Given the description of an element on the screen output the (x, y) to click on. 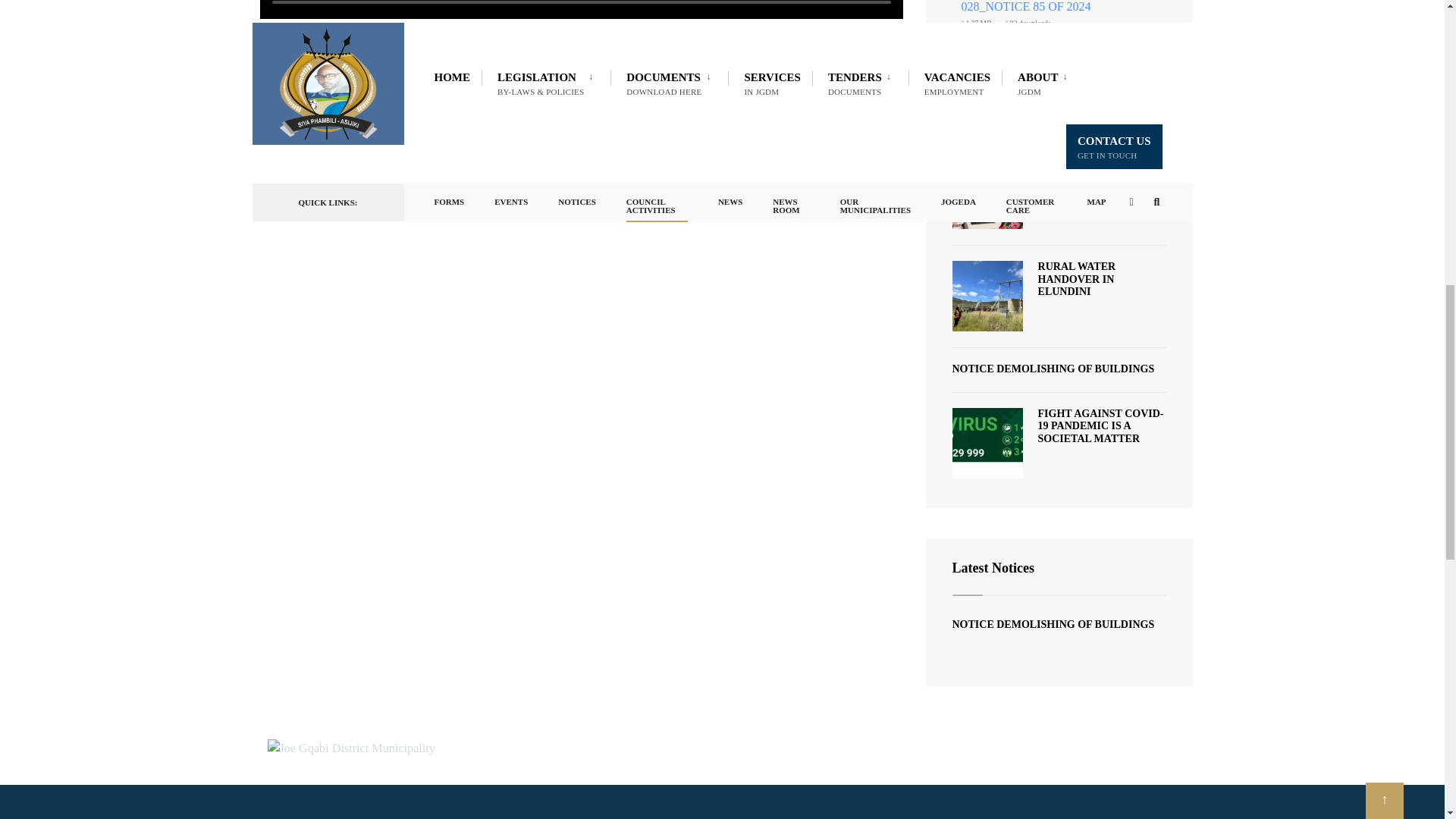
Scroll to top (1384, 1)
